Given the description of an element on the screen output the (x, y) to click on. 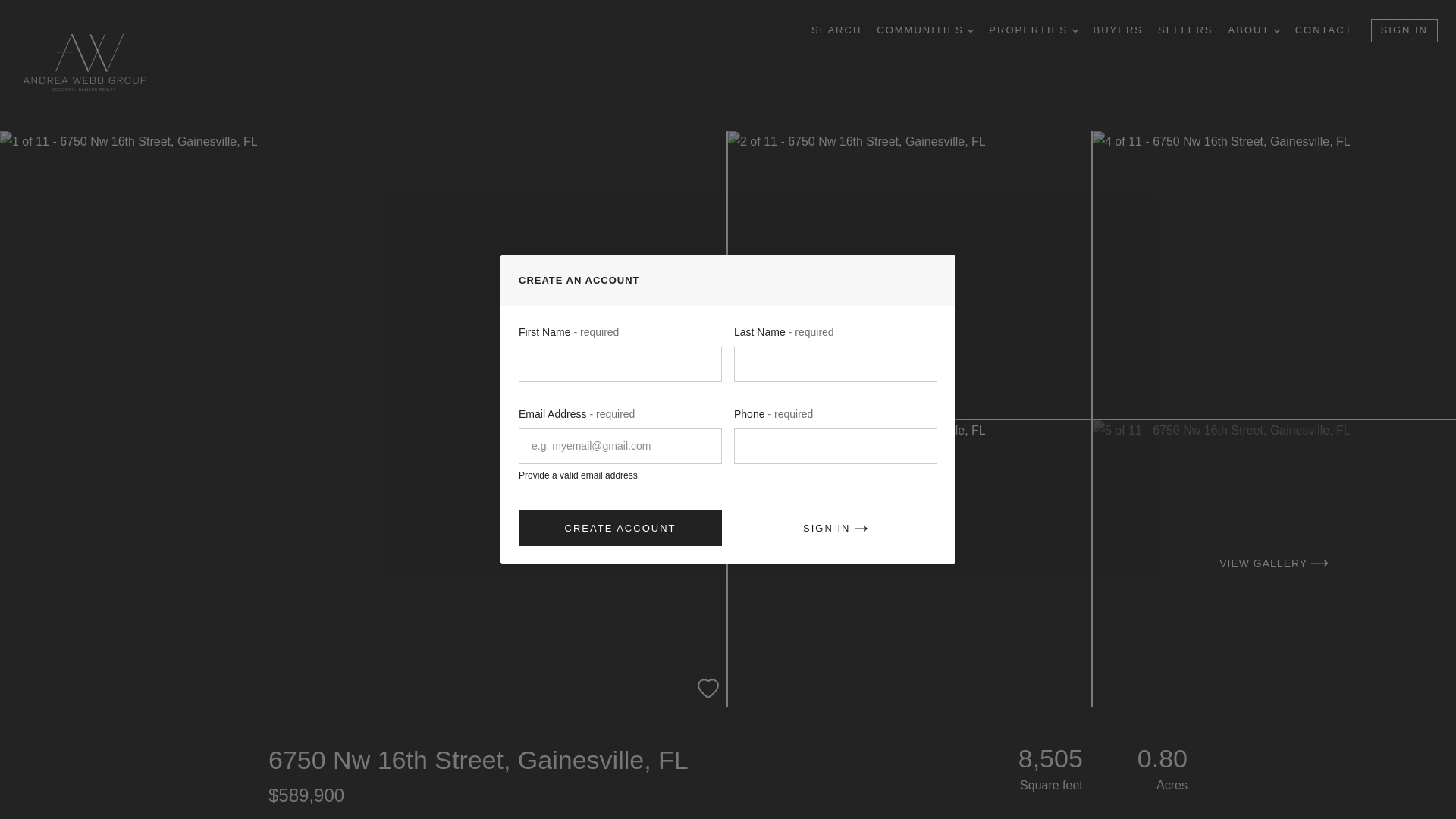
SEARCH (835, 30)
SIGN IN (1404, 30)
CONTACT (1323, 30)
DROPDOWN ARROW (971, 30)
BUYERS (1117, 30)
DROPDOWN ARROW (1276, 30)
COMMUNITIES DROPDOWN ARROW (925, 30)
ABOUT DROPDOWN ARROW (1253, 30)
PROPERTIES DROPDOWN ARROW (1032, 30)
DROPDOWN ARROW (1074, 30)
